Given the description of an element on the screen output the (x, y) to click on. 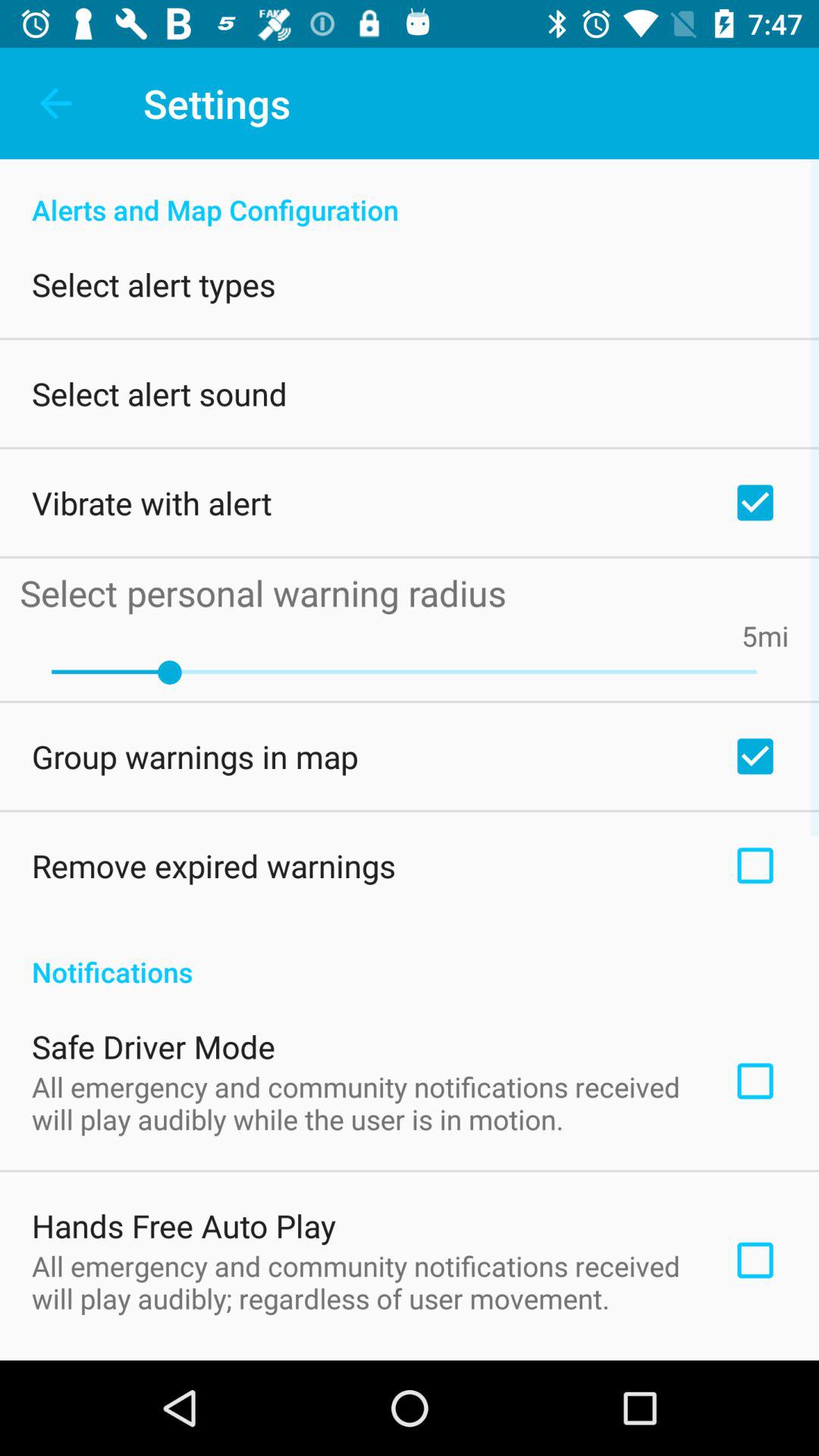
click icon below all emergency and app (409, 1355)
